Given the description of an element on the screen output the (x, y) to click on. 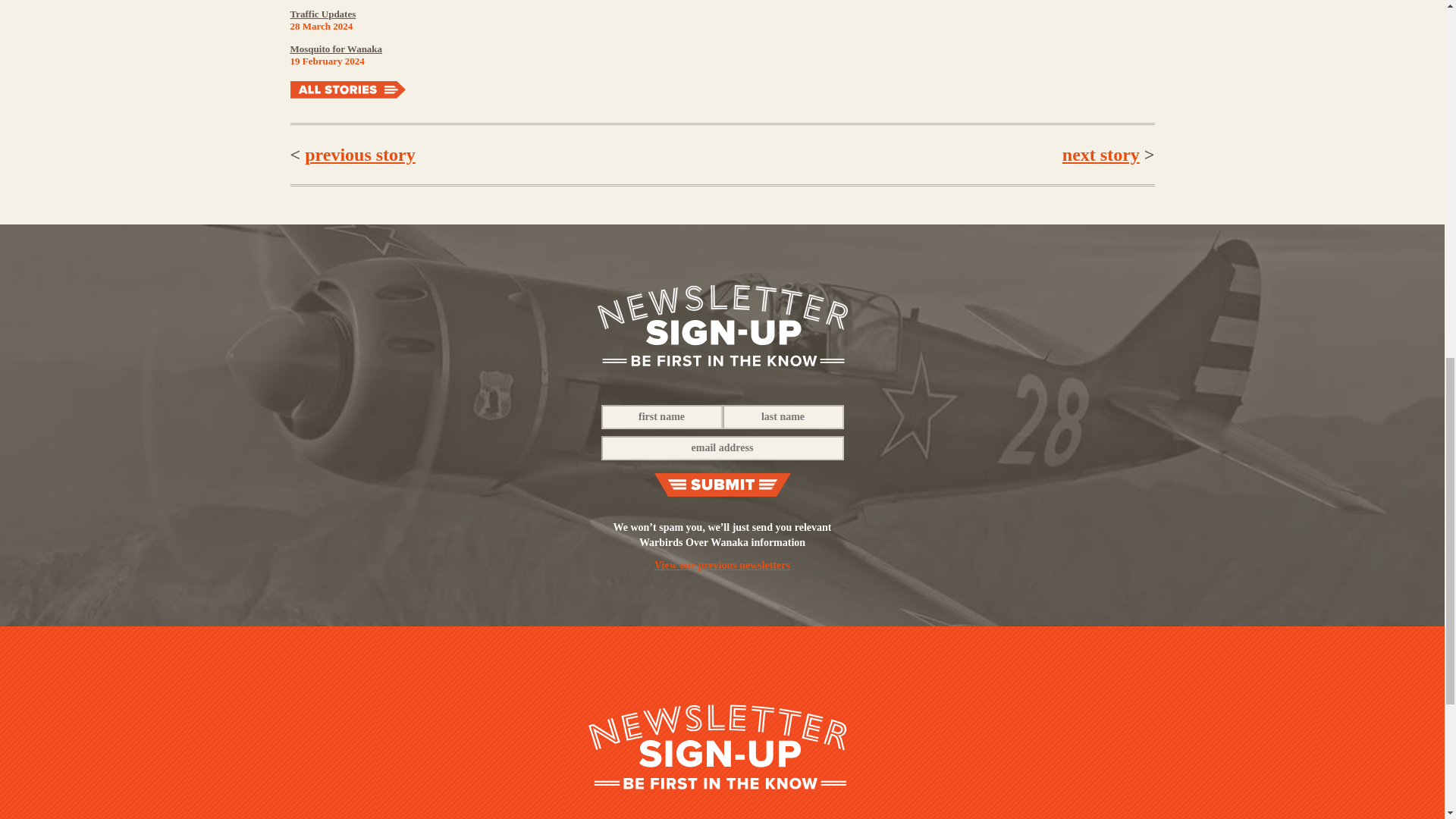
Mosquito for Wanaka (335, 48)
Traffic Updates (322, 13)
Newsletter Signup - Be the first in the know (721, 325)
